Given the description of an element on the screen output the (x, y) to click on. 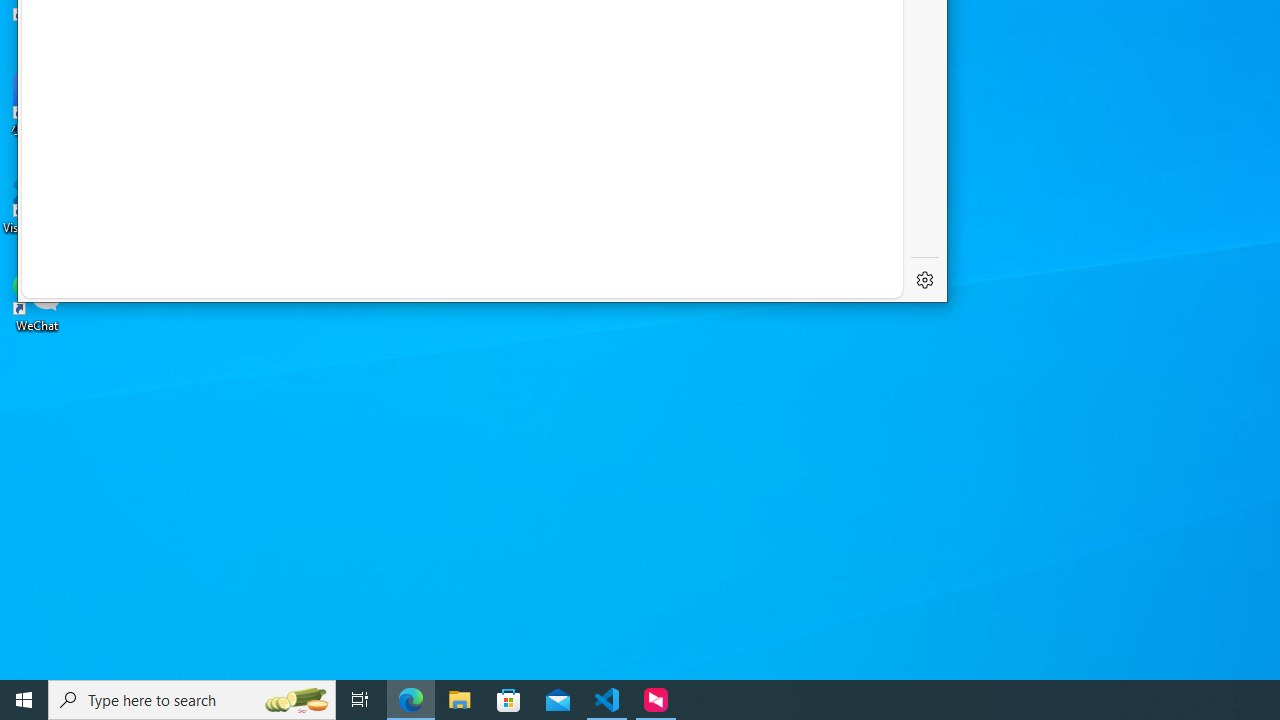
Microsoft Store (509, 699)
Microsoft Edge - 1 running window (411, 699)
Task View (359, 699)
Search highlights icon opens search home window (295, 699)
Visual Studio Code - 1 running window (607, 699)
Start (24, 699)
Type here to search (191, 699)
File Explorer (460, 699)
